Given the description of an element on the screen output the (x, y) to click on. 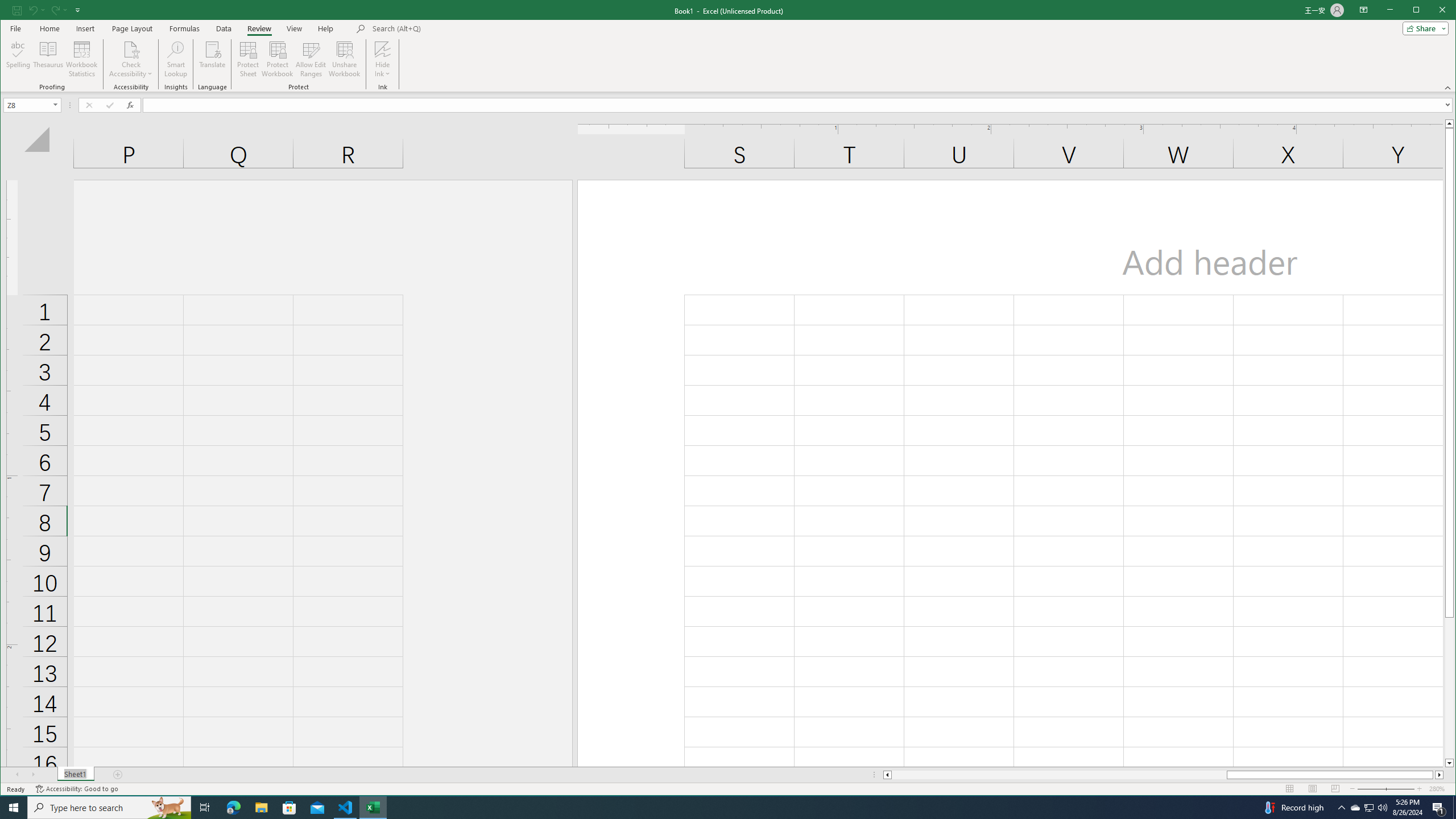
Protect Sheet... (247, 59)
Running applications (717, 807)
